Given the description of an element on the screen output the (x, y) to click on. 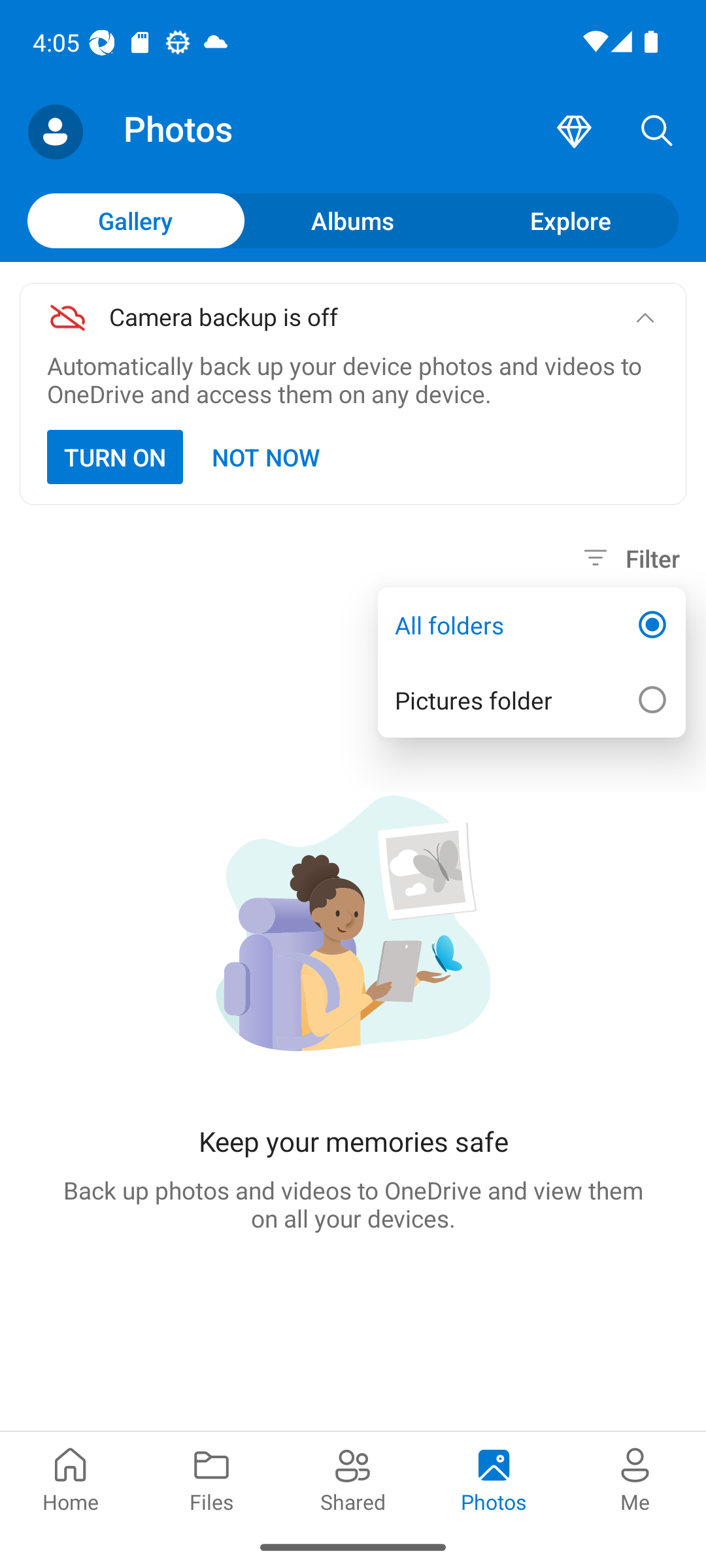
All folders (531, 624)
Pictures folder (531, 698)
